Given the description of an element on the screen output the (x, y) to click on. 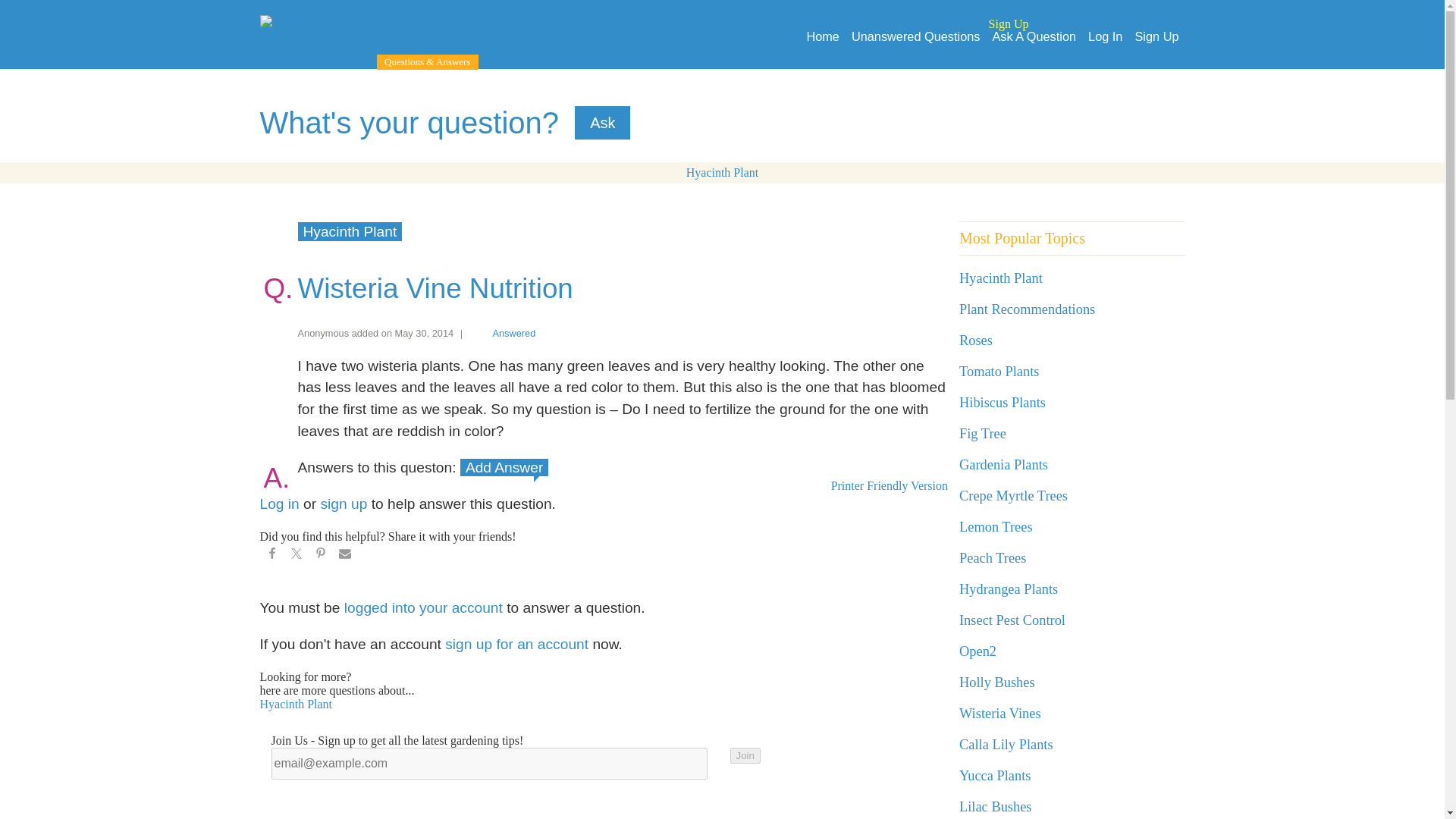
Roses (975, 340)
Insect Pest Control (1012, 620)
Hyacinth Plant (721, 172)
Crepe Myrtle Trees (1013, 495)
sign up (344, 503)
Plant Recommendations (1026, 309)
Ask (602, 122)
Insect Pest Control (1012, 620)
Sign Up (1156, 36)
Hibiscus Plants (1002, 402)
